Given the description of an element on the screen output the (x, y) to click on. 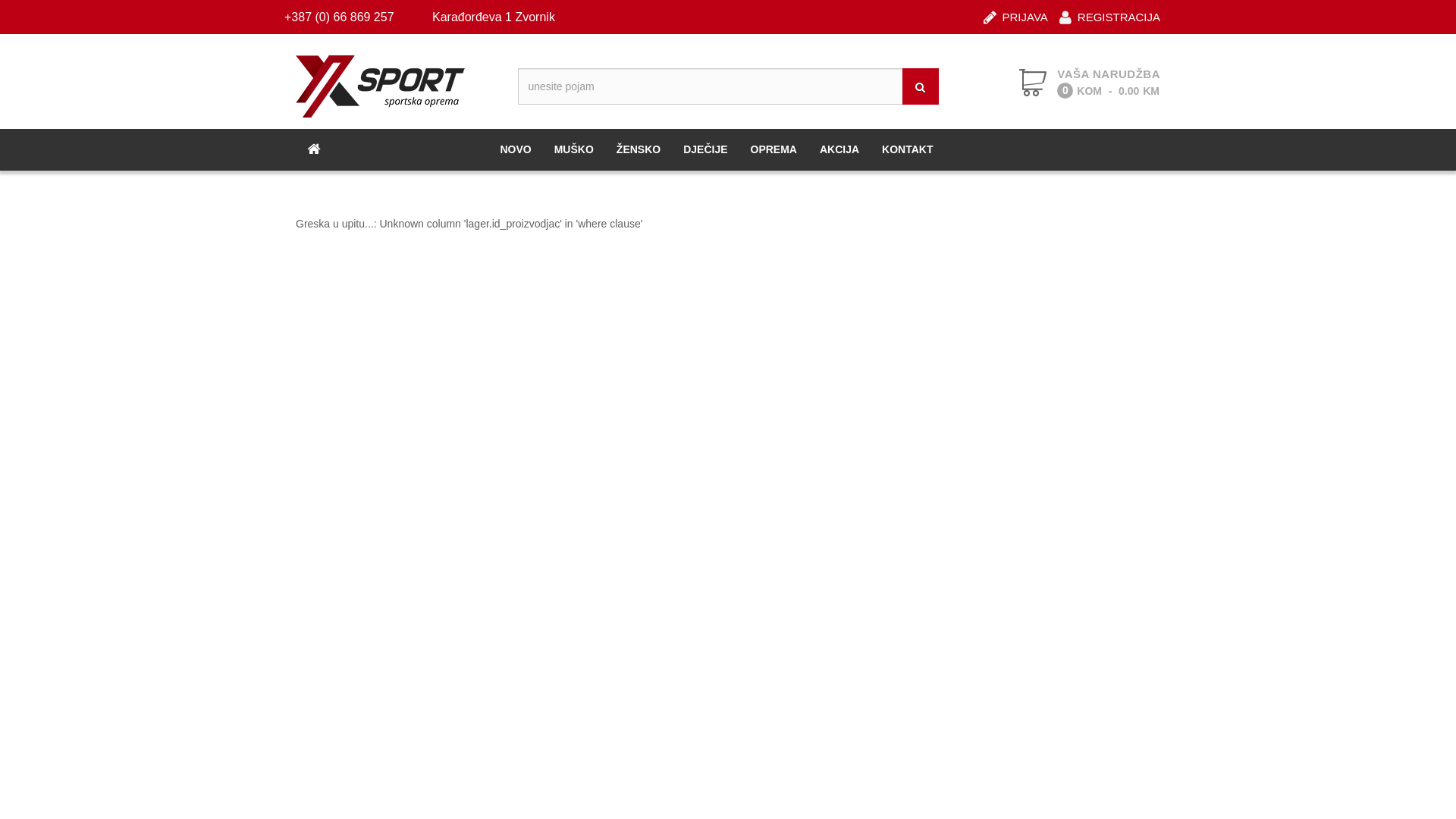
KONTAKT Element type: text (907, 148)
OPREMA Element type: text (773, 148)
X-SPORT Element type: hover (397, 86)
REGISTRACIJA Element type: text (1109, 12)
PRIJAVA Element type: text (1015, 12)
AKCIJA Element type: text (839, 148)
NOVO Element type: text (515, 148)
